Given the description of an element on the screen output the (x, y) to click on. 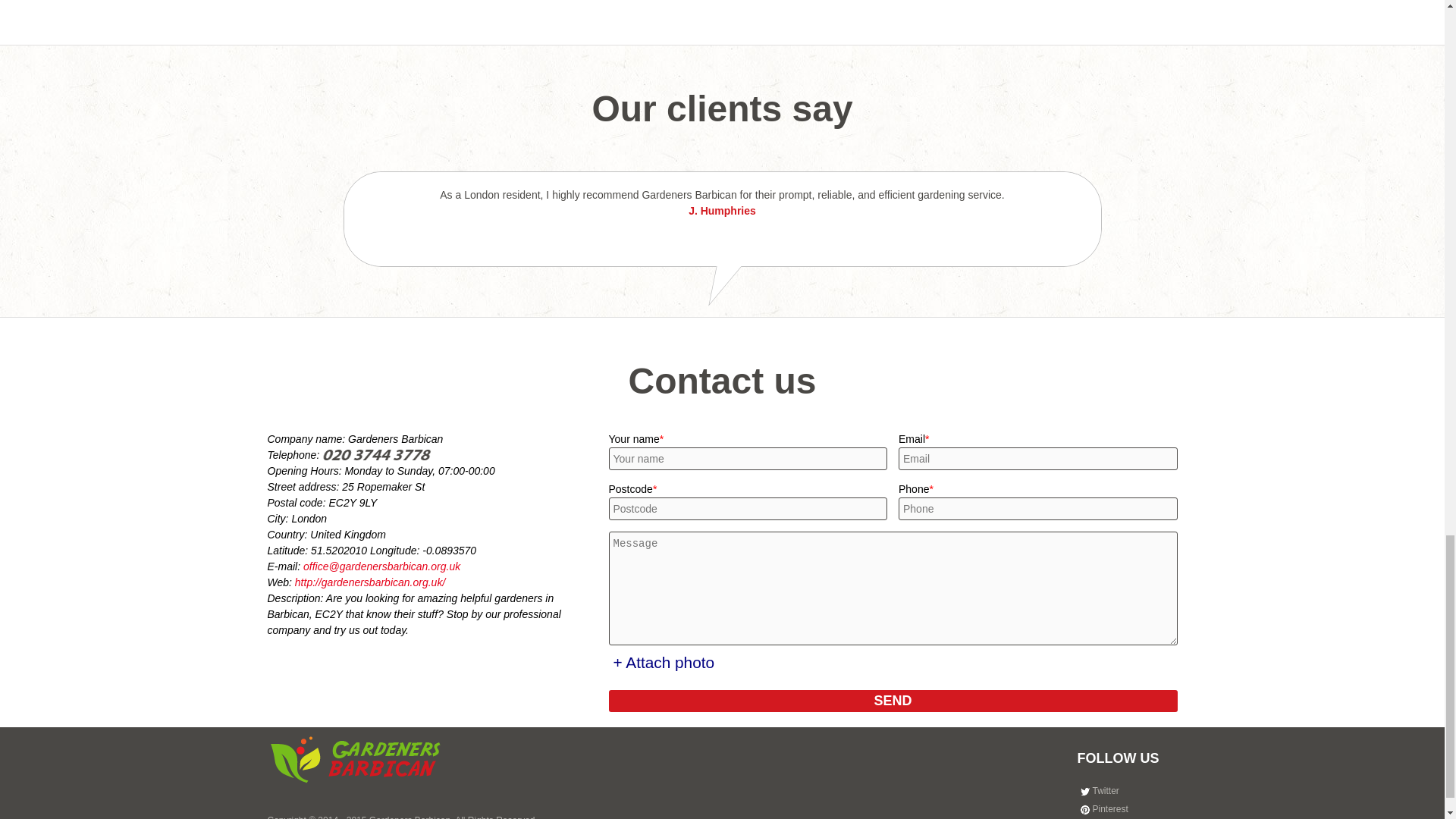
Send E-mail (381, 566)
SEND (892, 700)
